Given the description of an element on the screen output the (x, y) to click on. 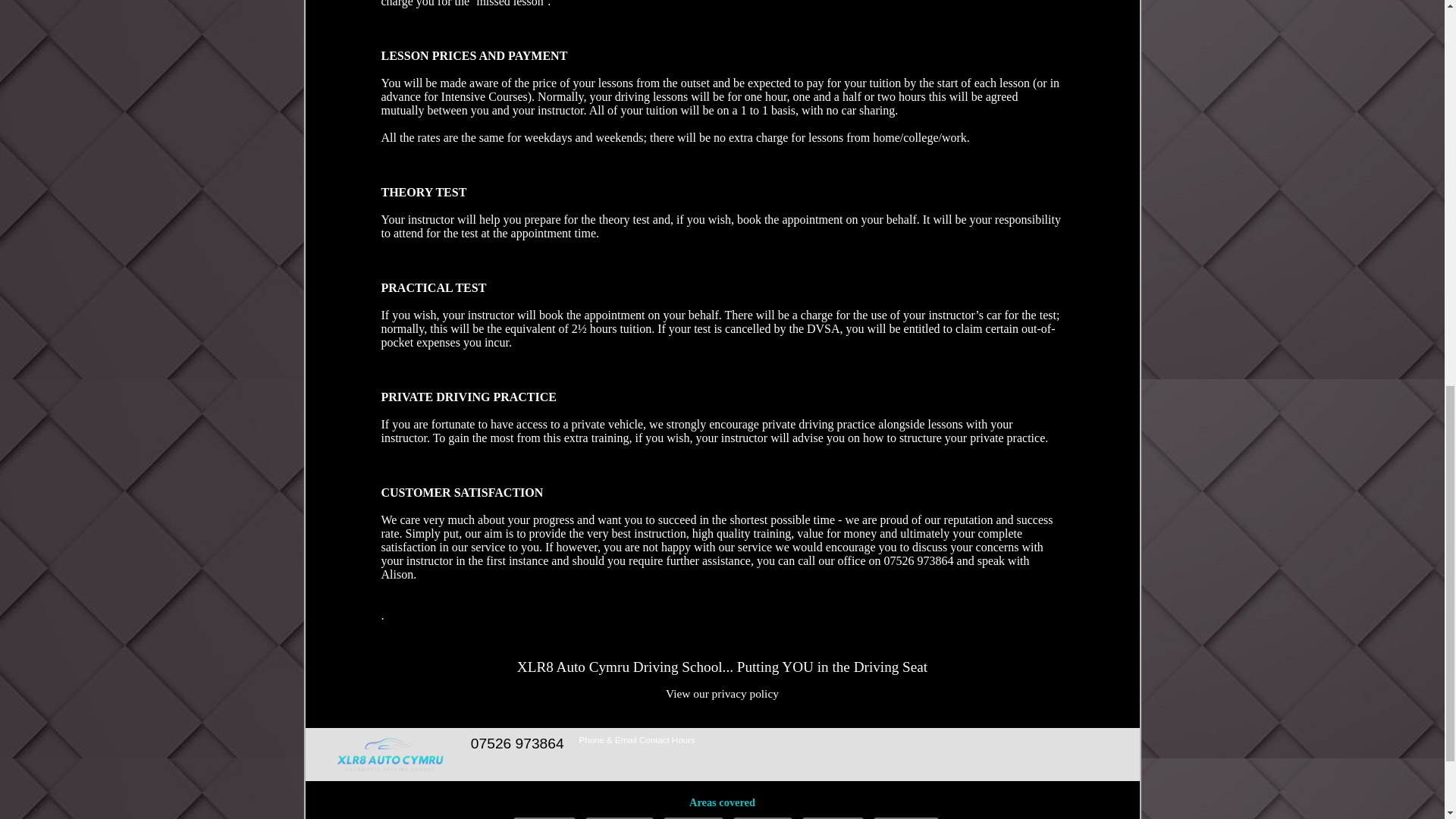
Porthcawl (906, 818)
Ogmore (762, 818)
Cowbridge (619, 818)
View our privacy policy (721, 693)
Bridgend (544, 818)
Pencoed (833, 818)
Llandow (693, 818)
